Given the description of an element on the screen output the (x, y) to click on. 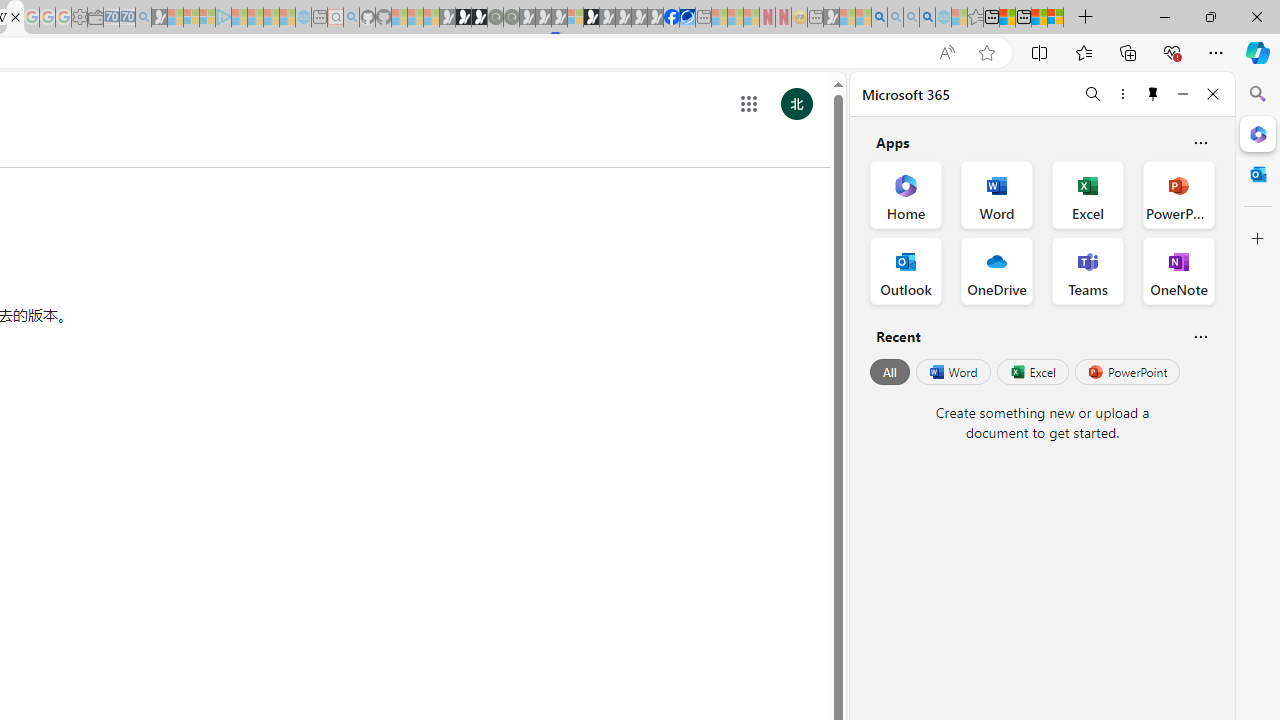
Home | Sky Blue Bikes - Sky Blue Bikes - Sleeping (303, 17)
Nordace | Facebook (671, 17)
PowerPoint Office App (1178, 194)
Is this helpful? (1200, 336)
Cheap Car Rentals - Save70.com - Sleeping (127, 17)
New tab - Sleeping (815, 17)
